Given the description of an element on the screen output the (x, y) to click on. 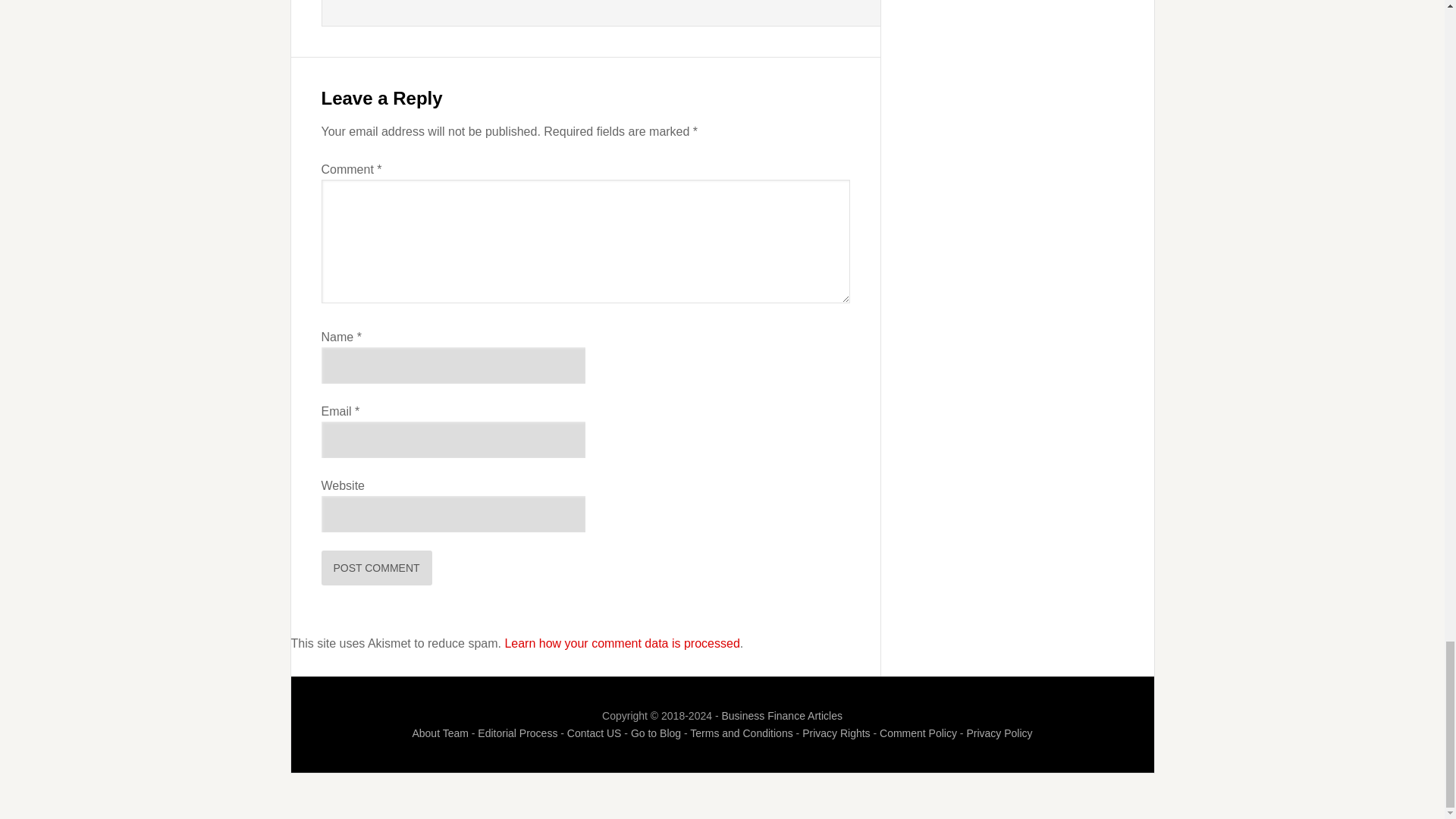
Post Comment (376, 567)
Learn how your comment data is processed (621, 643)
Post Comment (376, 567)
